Given the description of an element on the screen output the (x, y) to click on. 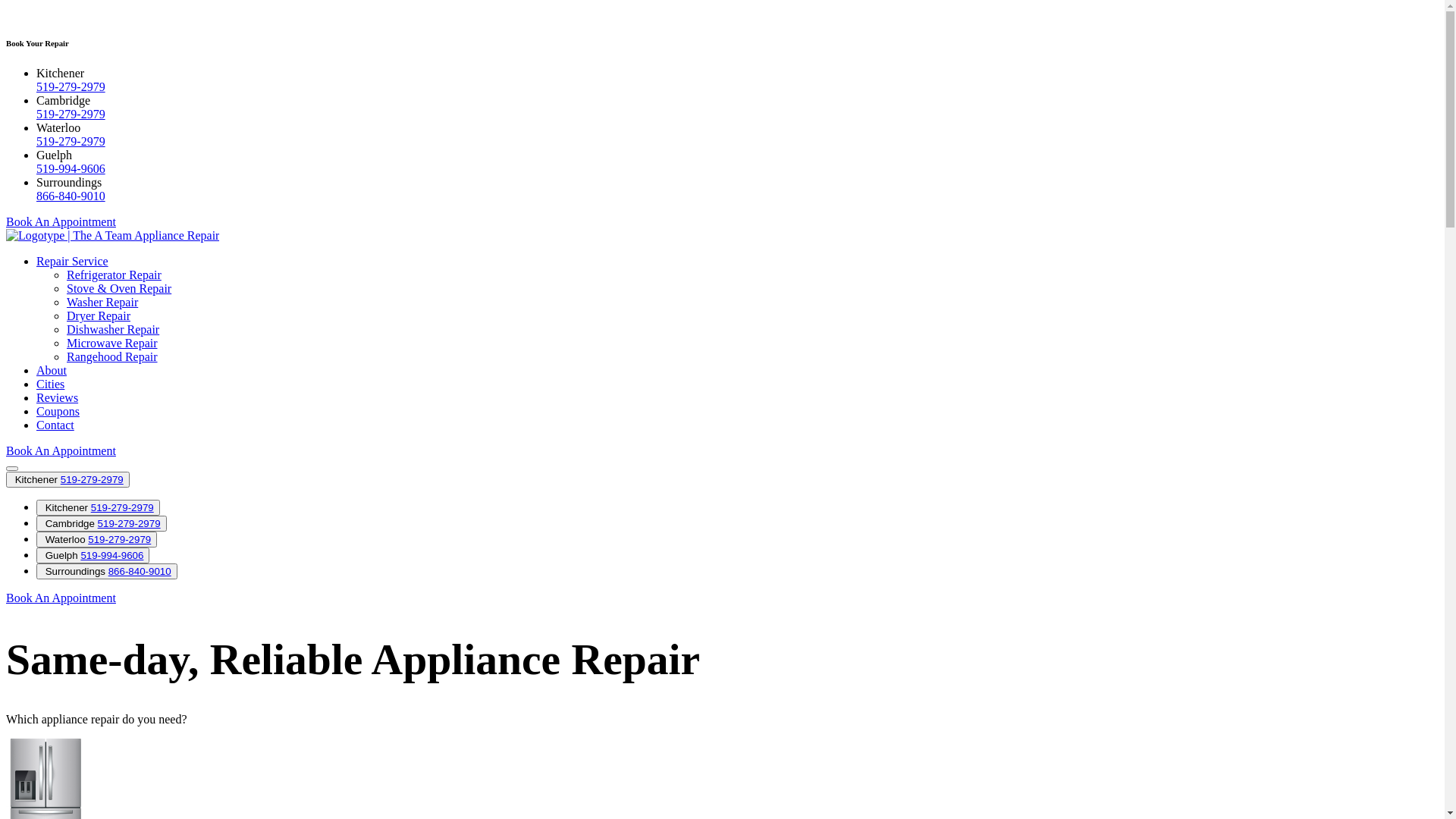
519-279-2979 Element type: text (70, 113)
Book An Appointment Element type: text (61, 221)
519-279-2979 Element type: text (122, 507)
Book An Appointment Element type: text (61, 597)
519-279-2979 Element type: text (128, 523)
Waterloo 519-279-2979 Element type: text (96, 539)
Contact Element type: text (55, 424)
Guelph 519-994-9606 Element type: text (92, 555)
519-279-2979 Element type: text (91, 479)
About Element type: text (51, 370)
Cities Element type: text (50, 383)
Kitchener 519-279-2979 Element type: text (98, 507)
Repair Service Element type: text (72, 260)
519-279-2979 Element type: text (118, 539)
Rangehood Repair Element type: text (111, 356)
519-279-2979 Element type: text (70, 86)
519-994-9606 Element type: text (70, 168)
Visit Home page Element type: hover (112, 235)
Stove & Oven Repair Element type: text (118, 288)
866-840-9010 Element type: text (70, 195)
Cambridge 519-279-2979 Element type: text (101, 523)
Coupons Element type: text (57, 410)
Dishwasher Repair Element type: text (112, 329)
519-279-2979 Element type: text (70, 140)
Dryer Repair Element type: text (98, 315)
Kitchener 519-279-2979 Element type: text (67, 479)
Refrigerator Repair Element type: text (113, 274)
866-840-9010 Element type: text (139, 571)
Reviews Element type: text (57, 397)
Surroundings 866-840-9010 Element type: text (106, 571)
Book An Appointment Element type: text (61, 450)
Microwave Repair Element type: text (111, 342)
519-994-9606 Element type: text (111, 555)
Washer Repair Element type: text (102, 301)
